Given the description of an element on the screen output the (x, y) to click on. 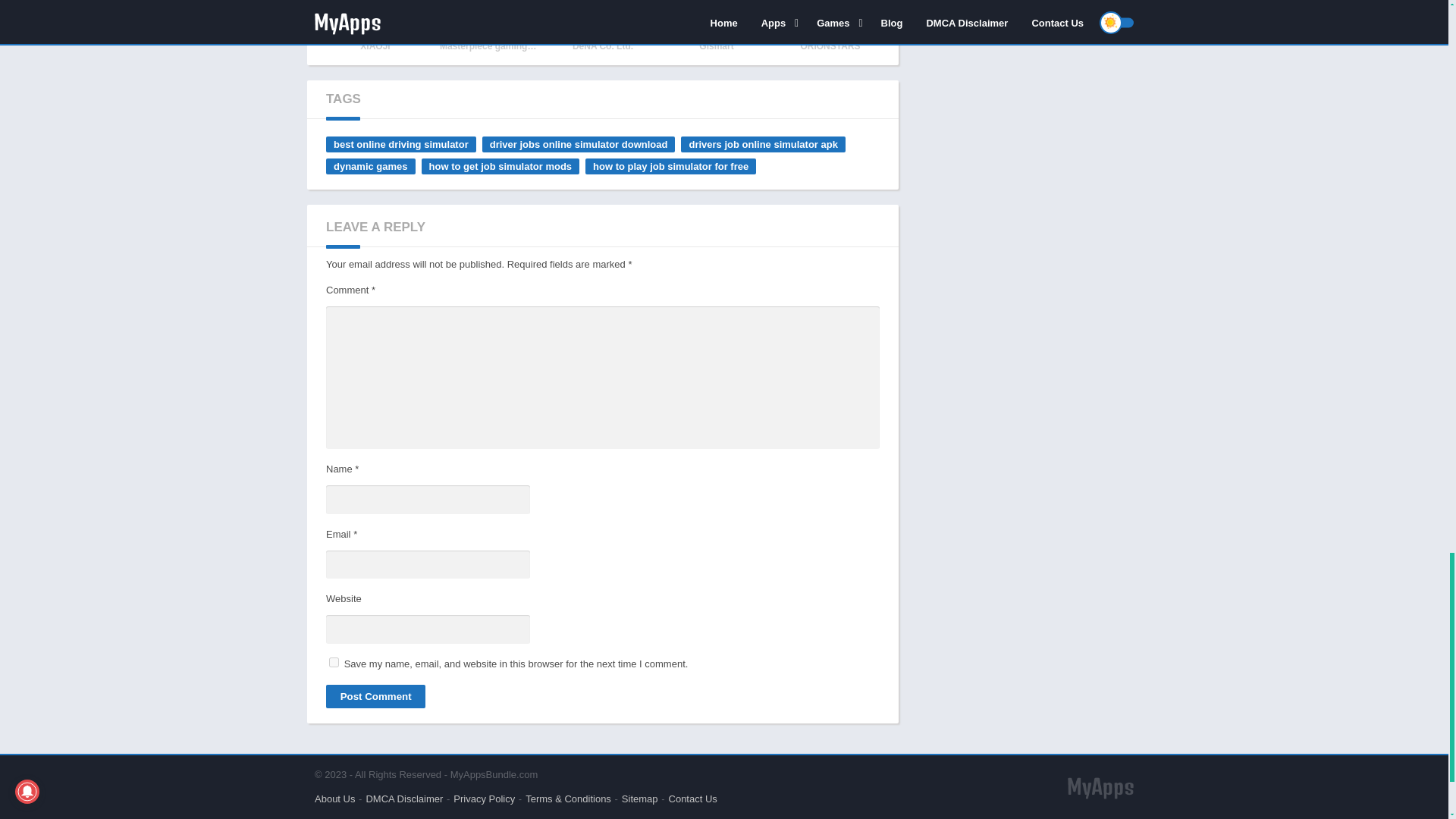
yes (334, 662)
Egg NS Emulator Apk Download: Everything You Need to Know (375, 26)
Post Comment (375, 696)
